Given the description of an element on the screen output the (x, y) to click on. 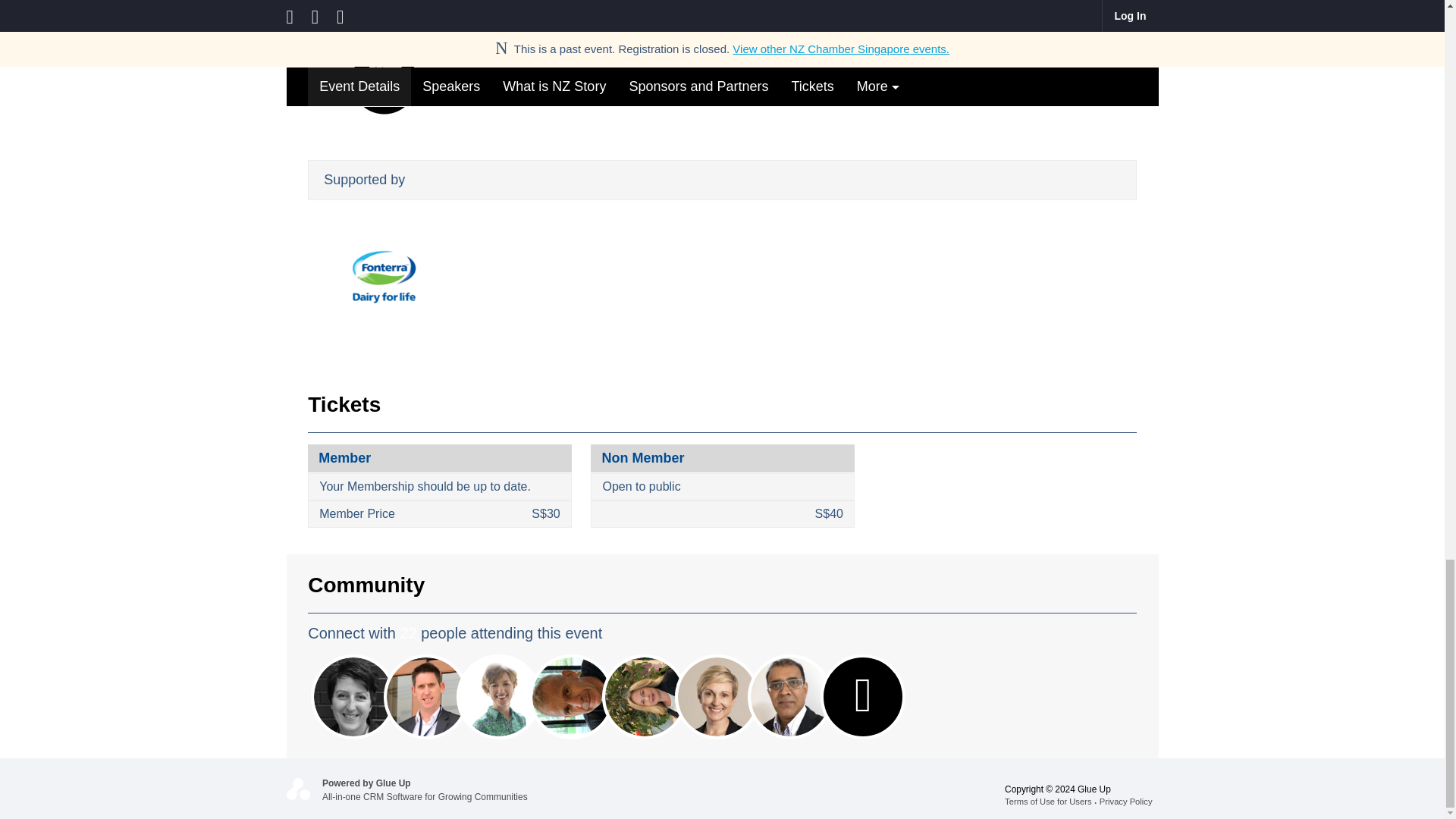
Terms of Use for Users (1051, 800)
Privacy Policy (1128, 800)
